Given the description of an element on the screen output the (x, y) to click on. 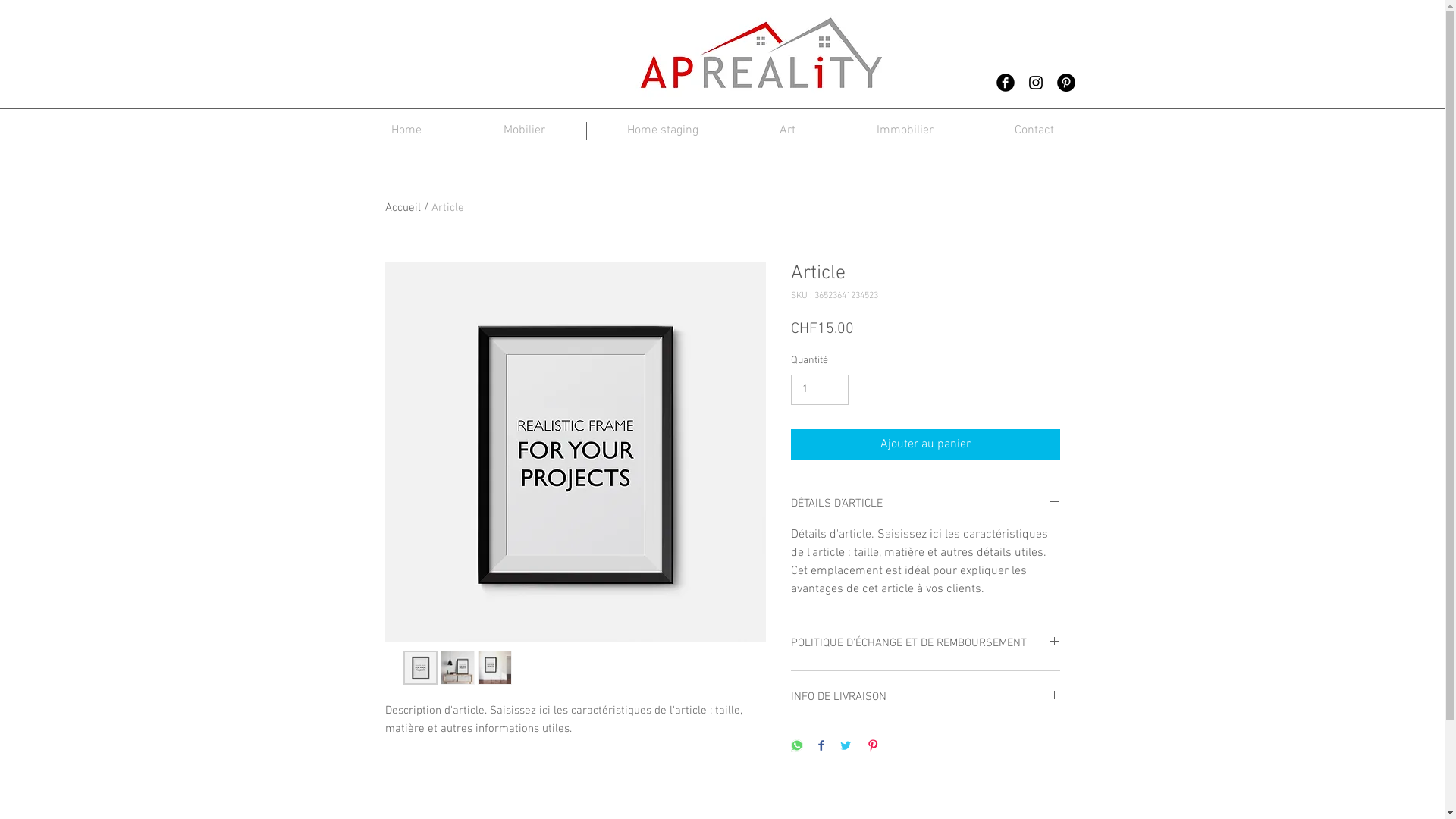
Ajouter au panier Element type: text (924, 444)
Home Element type: text (405, 130)
Home staging Element type: text (662, 130)
INFO DE LIVRAISON Element type: text (924, 697)
Accueil Element type: text (402, 207)
Mobilier Element type: text (523, 130)
Contact Element type: text (1033, 130)
Art Element type: text (786, 130)
Immobilier Element type: text (903, 130)
Article Element type: text (446, 207)
